Given the description of an element on the screen output the (x, y) to click on. 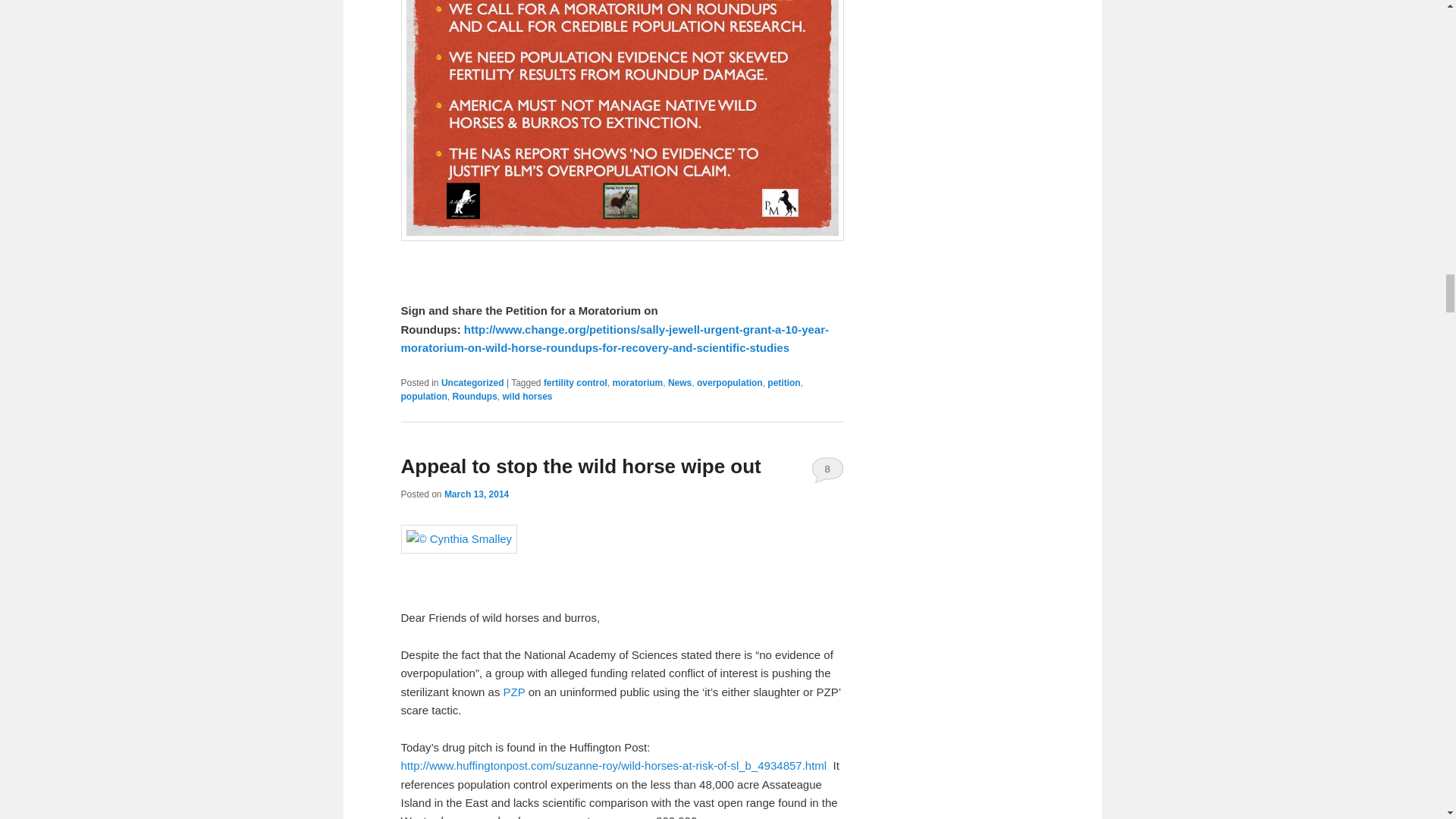
3:12 pm (476, 493)
